Given the description of an element on the screen output the (x, y) to click on. 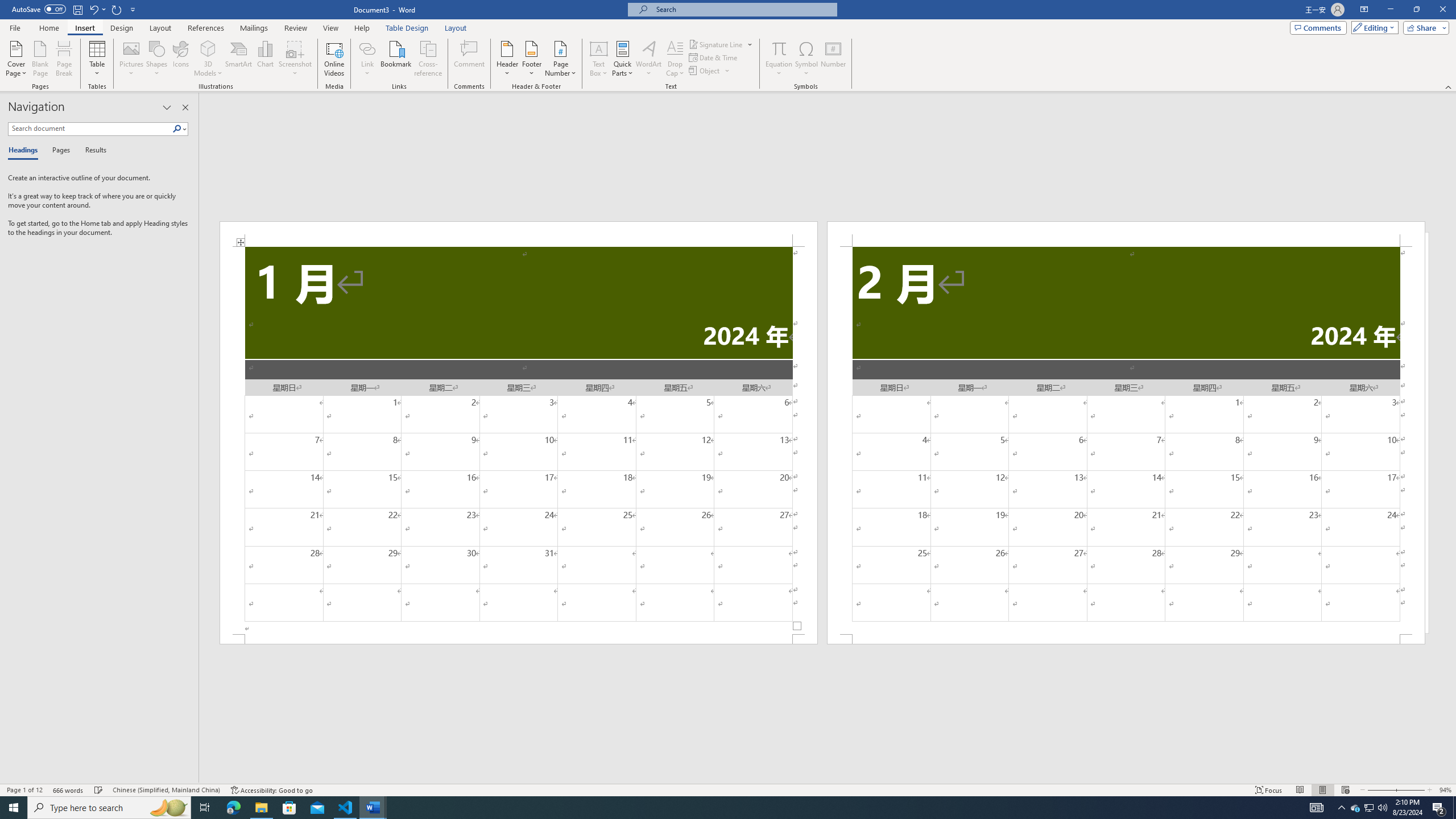
Footer (531, 58)
Comment (469, 58)
Date & Time... (714, 56)
Object... (709, 69)
WordArt (648, 58)
Page Number (560, 58)
